Given the description of an element on the screen output the (x, y) to click on. 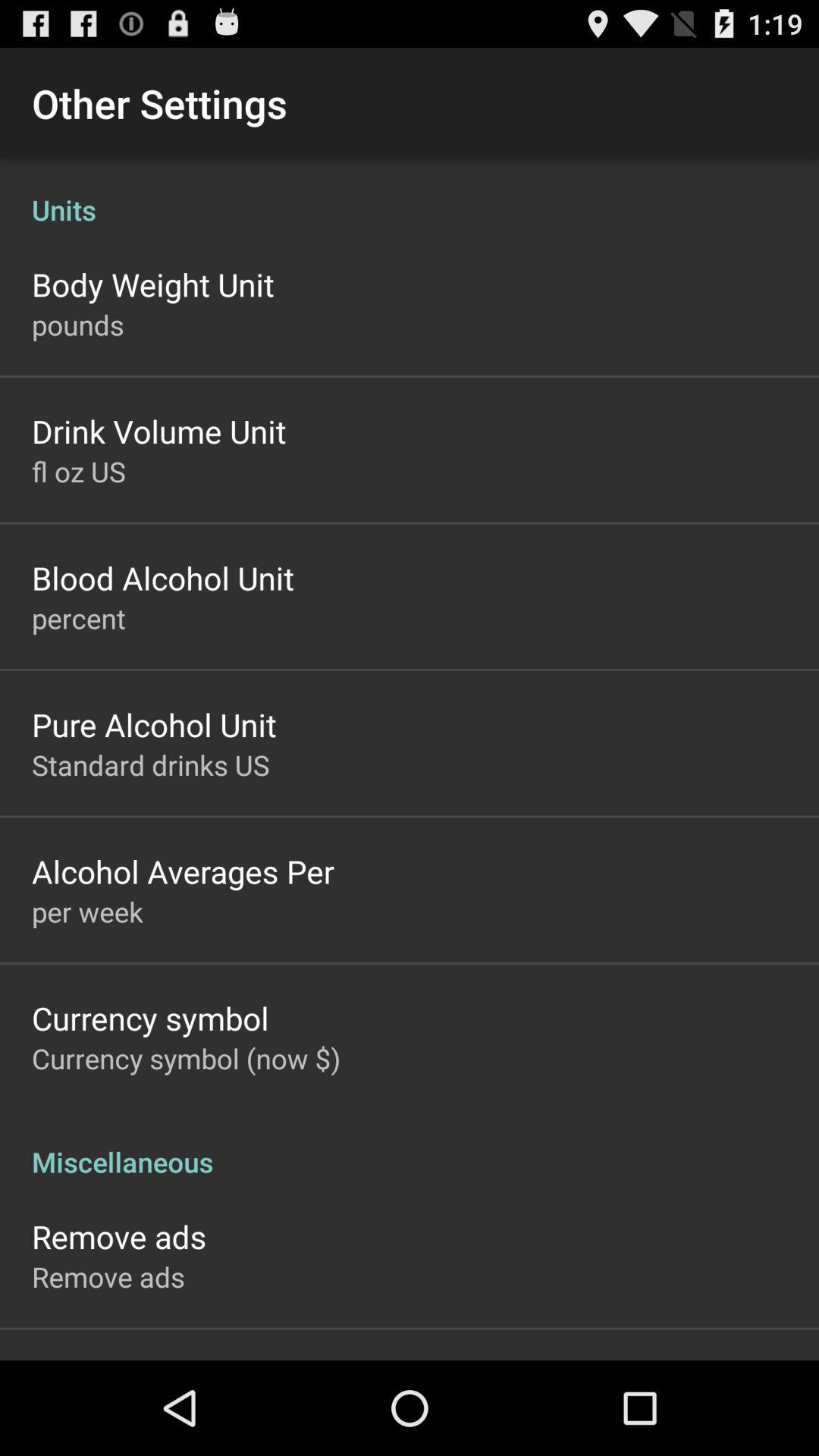
turn on fl oz us item (78, 471)
